Given the description of an element on the screen output the (x, y) to click on. 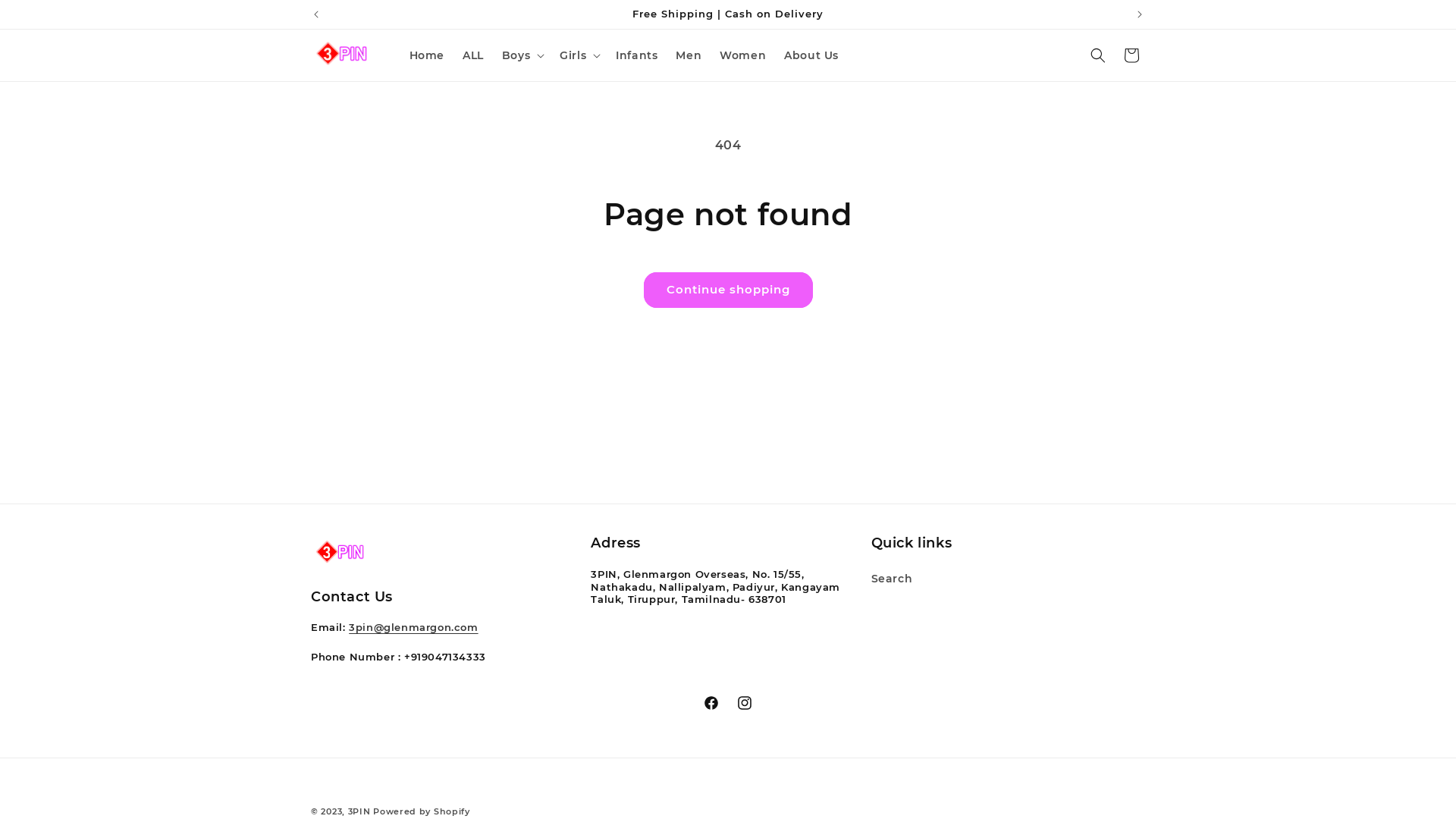
Infants Element type: text (636, 55)
Women Element type: text (742, 55)
Cart Element type: text (1131, 55)
Search Element type: text (892, 580)
3pin@glenmargon.com Element type: text (412, 627)
ALL Element type: text (472, 55)
3PIN Element type: text (359, 811)
Powered by Shopify Element type: text (421, 811)
About Us Element type: text (811, 55)
Men Element type: text (688, 55)
Home Element type: text (426, 55)
Facebook Element type: text (711, 702)
Instagram Element type: text (744, 702)
Continue shopping Element type: text (727, 289)
